Given the description of an element on the screen output the (x, y) to click on. 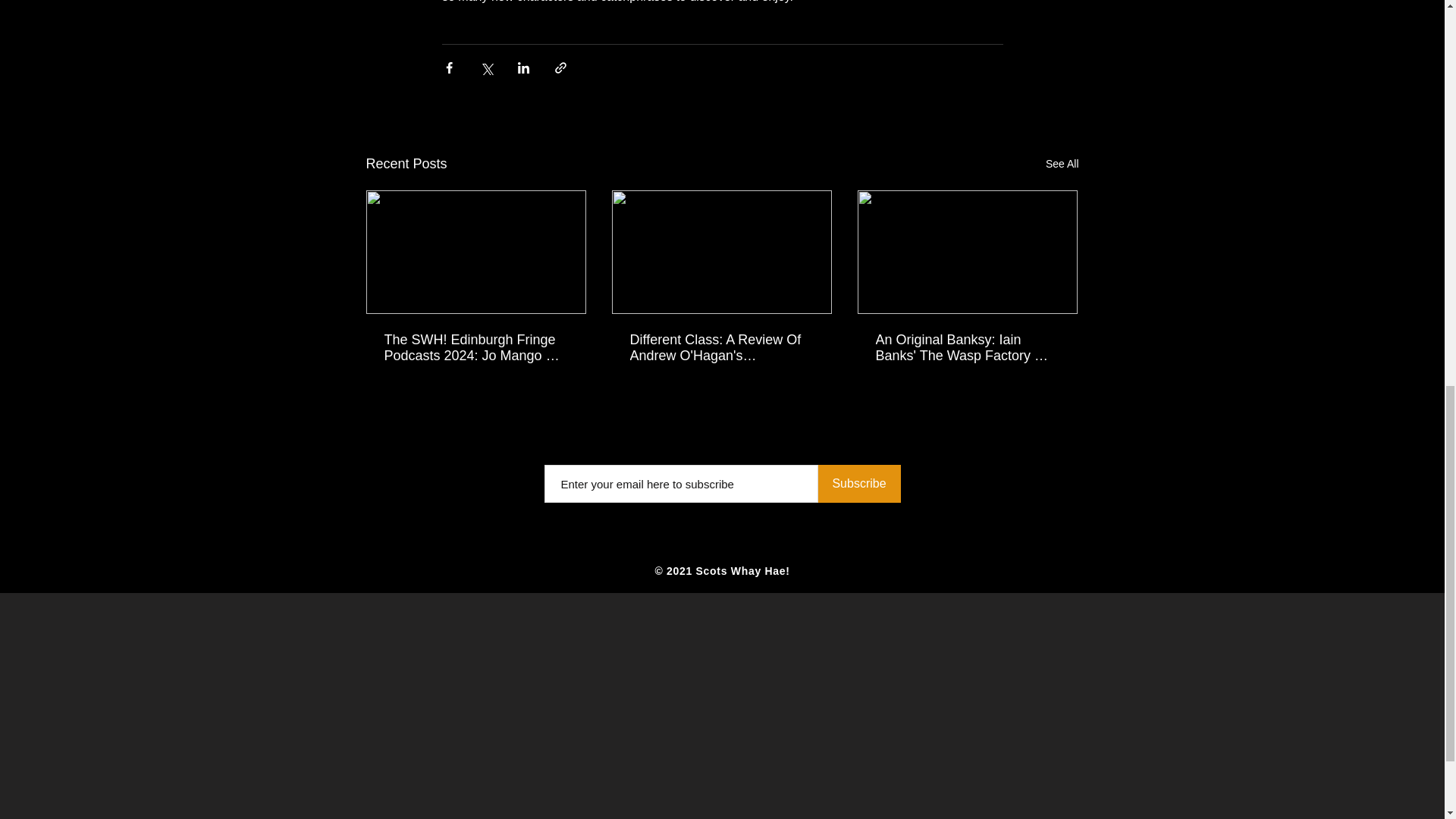
Subscribe (857, 483)
See All (1061, 164)
